Given the description of an element on the screen output the (x, y) to click on. 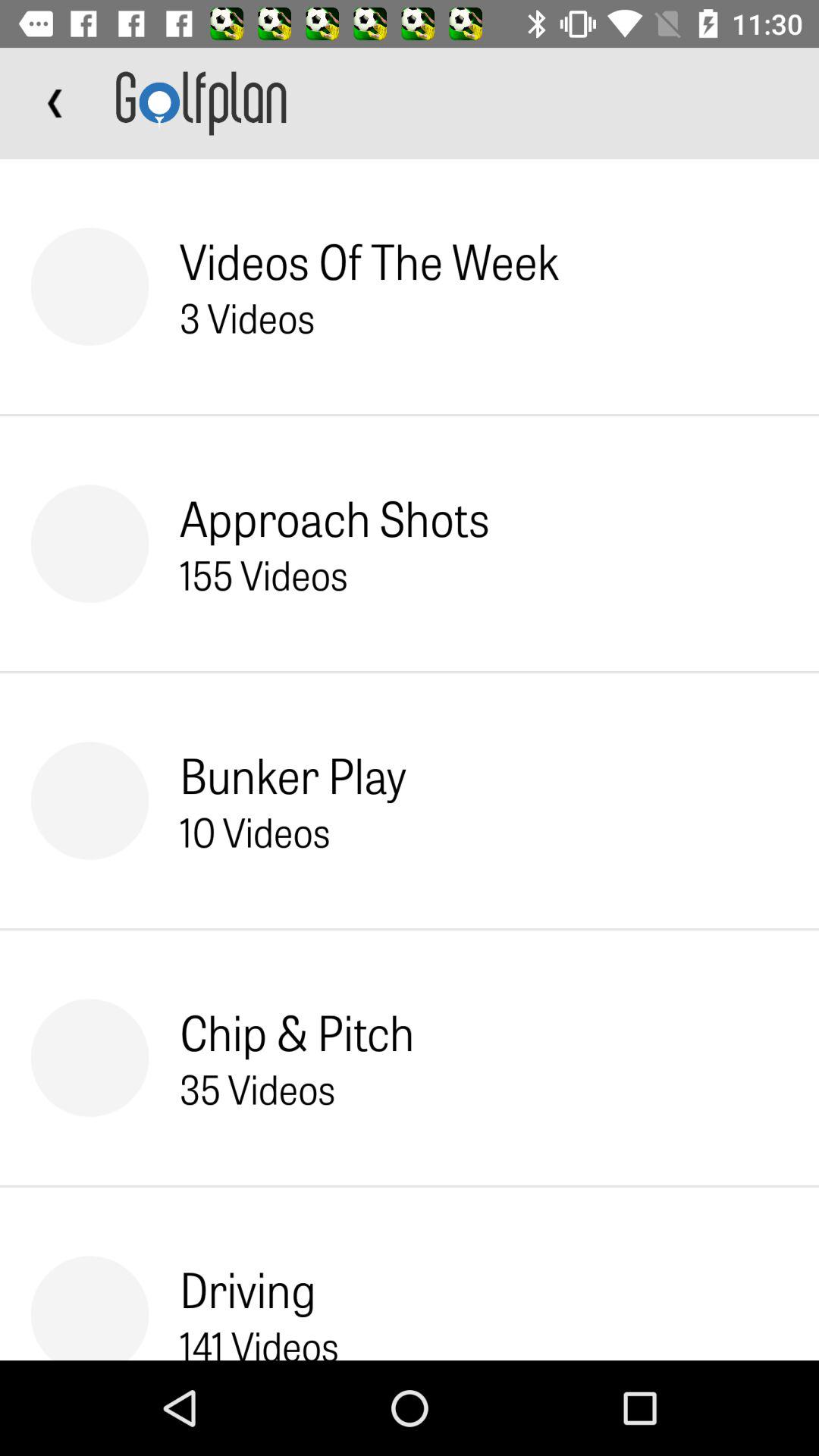
turn on the icon above driving icon (257, 1088)
